Given the description of an element on the screen output the (x, y) to click on. 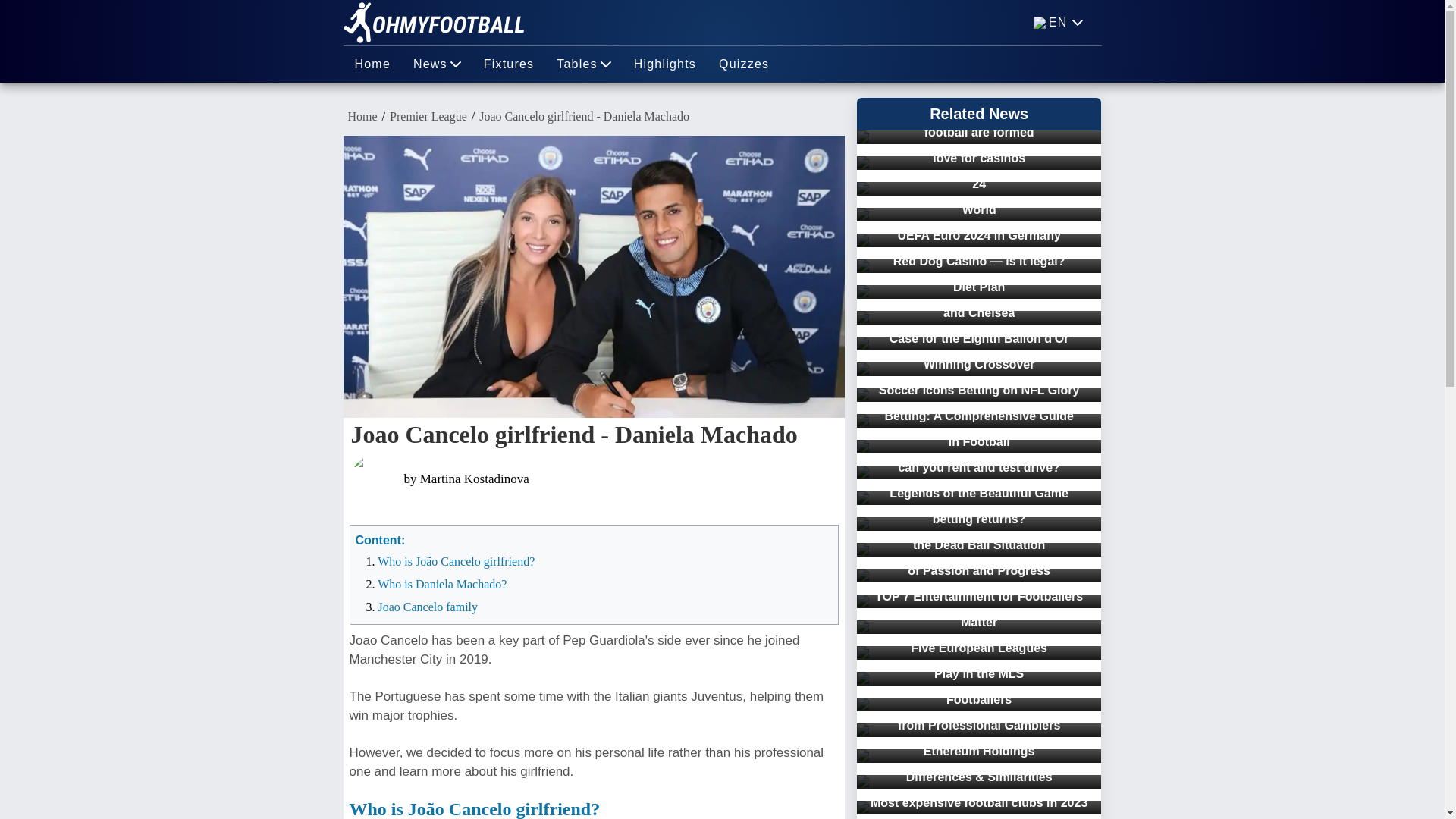
Fixtures (508, 63)
Home (371, 63)
News (436, 63)
EN (1058, 22)
Tables (582, 63)
